Given the description of an element on the screen output the (x, y) to click on. 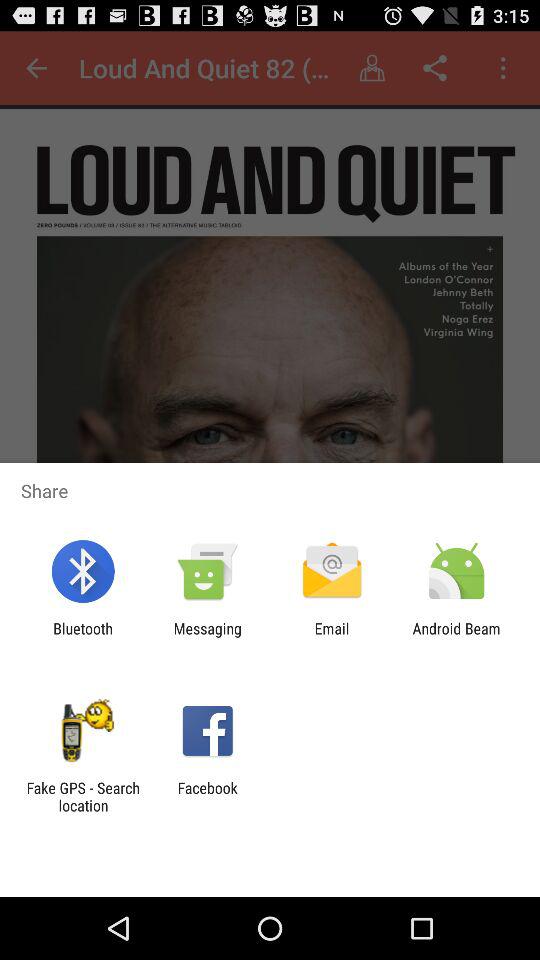
turn on the app next to messaging item (331, 637)
